Given the description of an element on the screen output the (x, y) to click on. 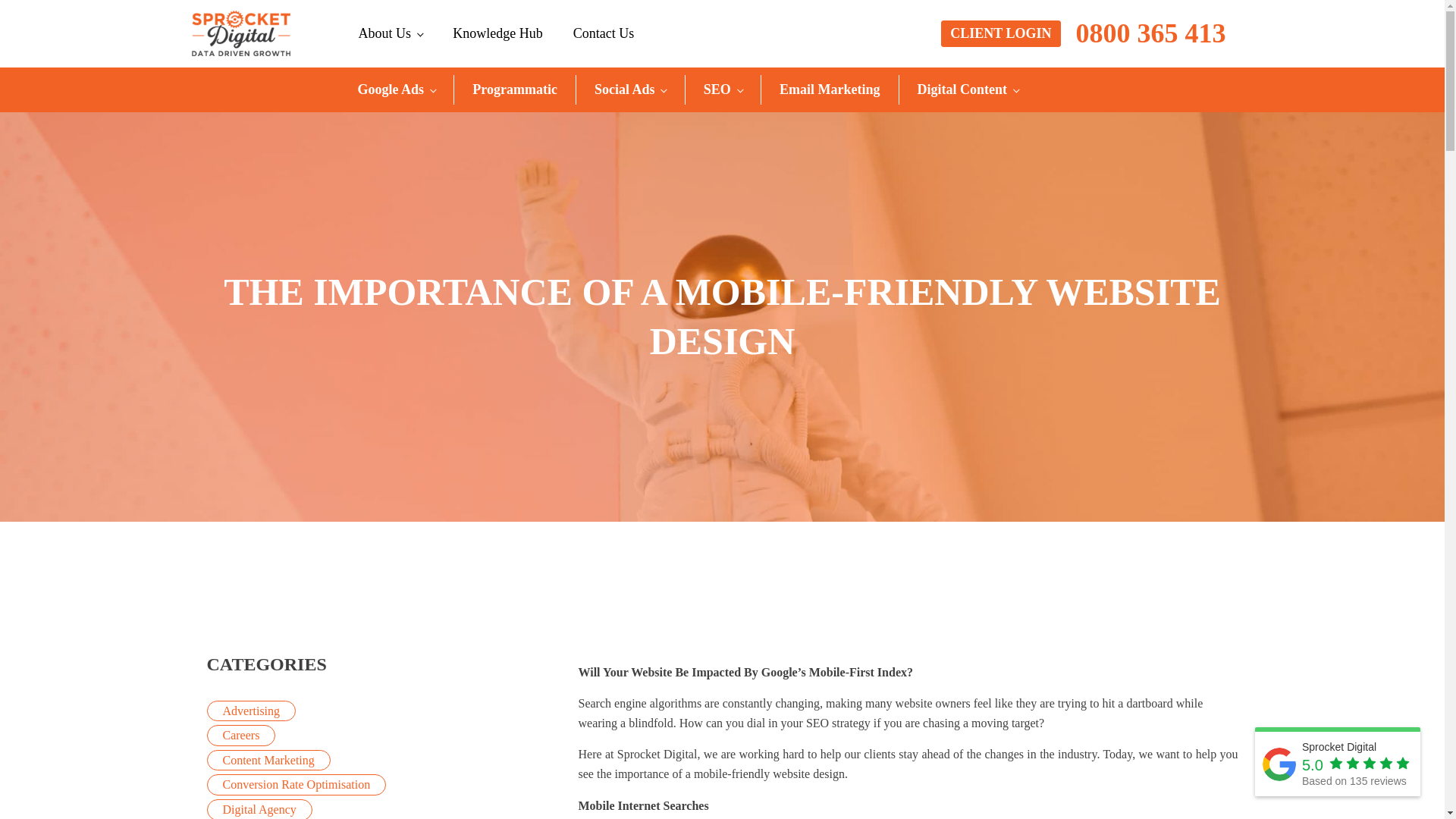
Programmatic (514, 89)
0800 365 413 (1150, 34)
About Us (390, 33)
Email Marketing (829, 89)
SEO (722, 89)
Knowledge Hub (497, 33)
Social Ads (630, 89)
Digital Content (967, 89)
Contact Us (603, 33)
CLIENT LOGIN (999, 33)
Google Ads (396, 89)
